Given the description of an element on the screen output the (x, y) to click on. 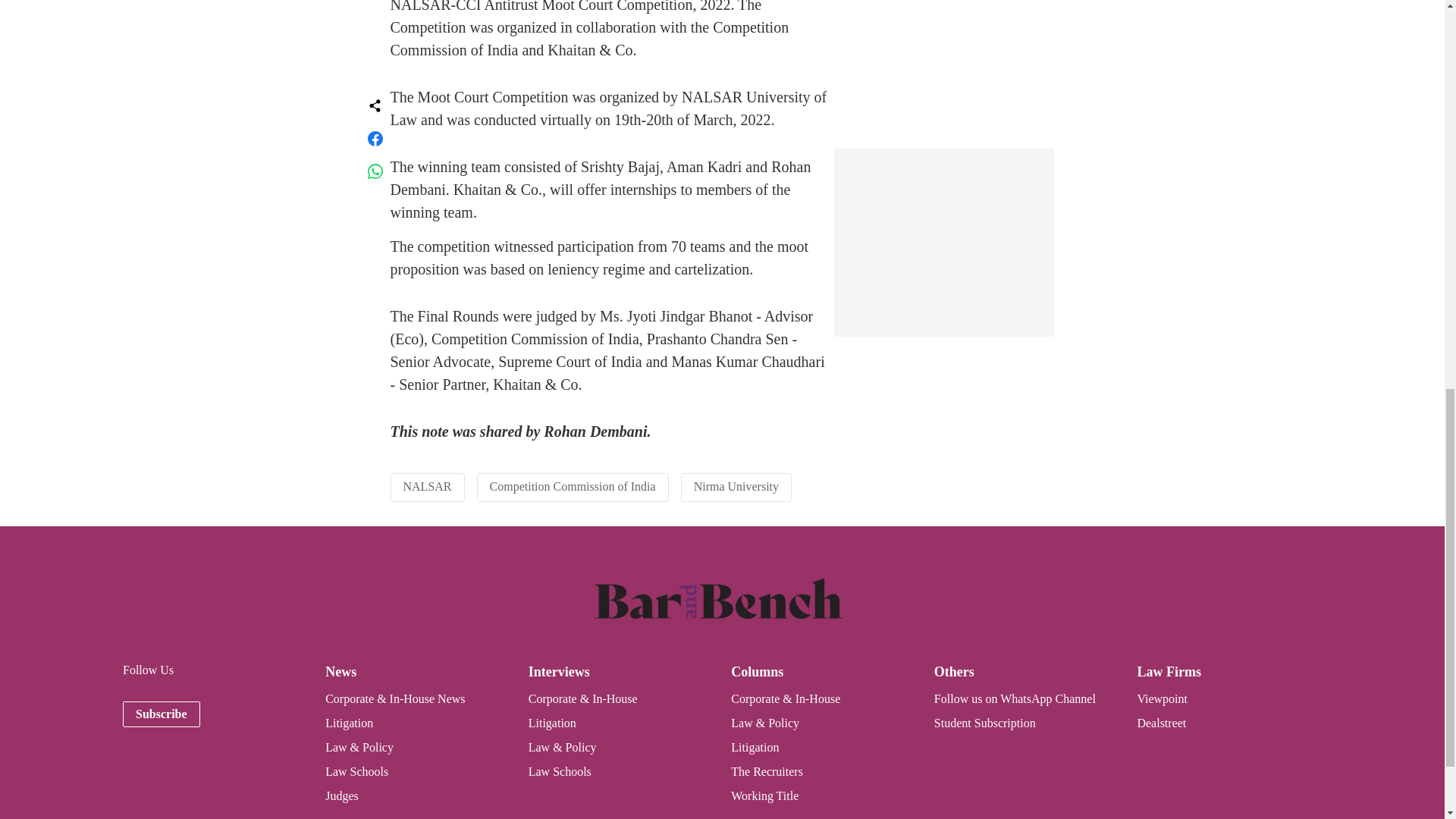
Interviews (558, 671)
Litigation (754, 747)
News (340, 671)
Litigation (348, 722)
Law Schools (356, 771)
NALSAR (427, 485)
Judges (341, 795)
Law Schools (559, 771)
Competition Commission of India (572, 485)
Columns (756, 671)
Litigation (552, 722)
Nirma University (736, 485)
